Given the description of an element on the screen output the (x, y) to click on. 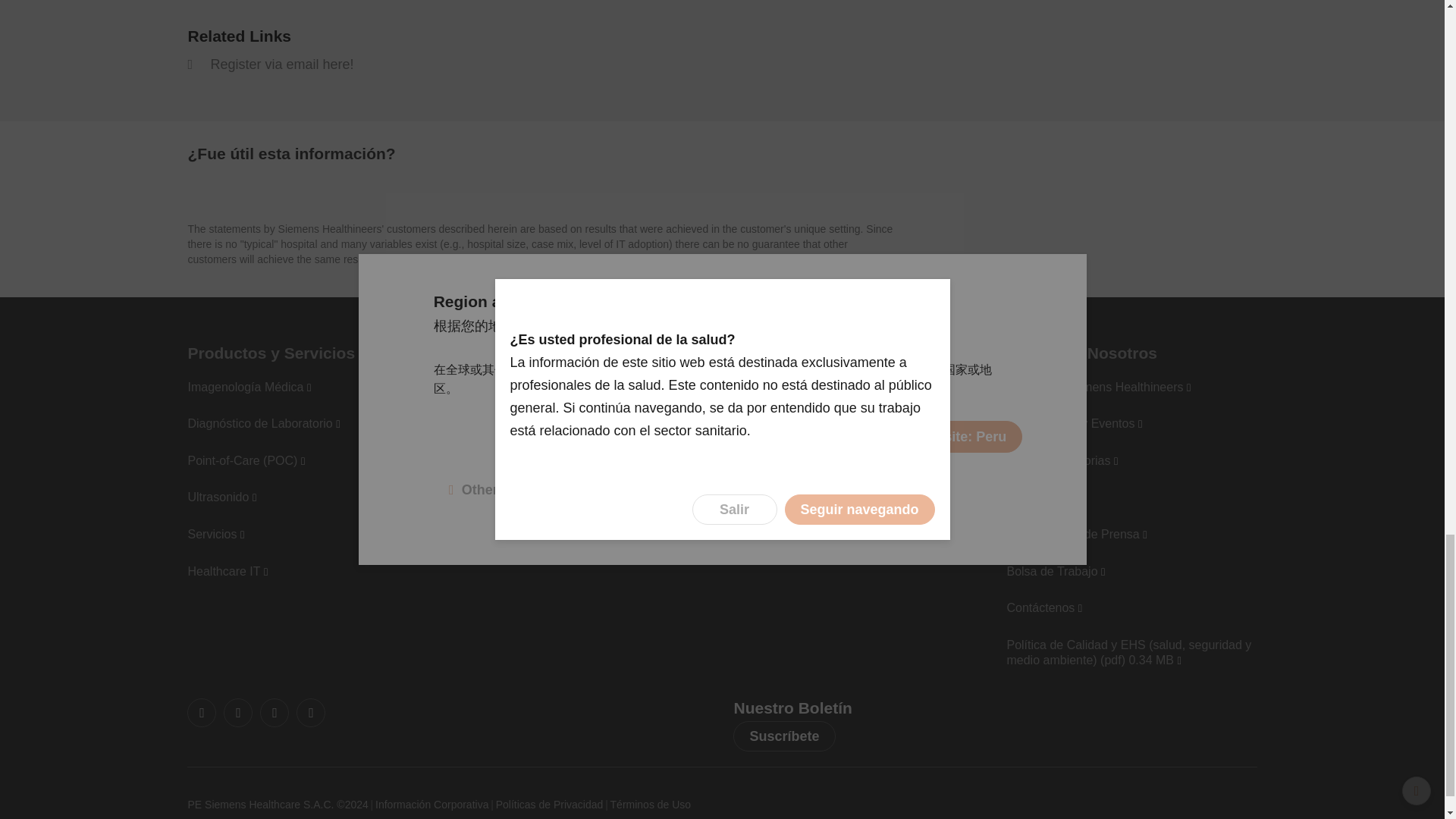
Register via email here! (270, 64)
